Given the description of an element on the screen output the (x, y) to click on. 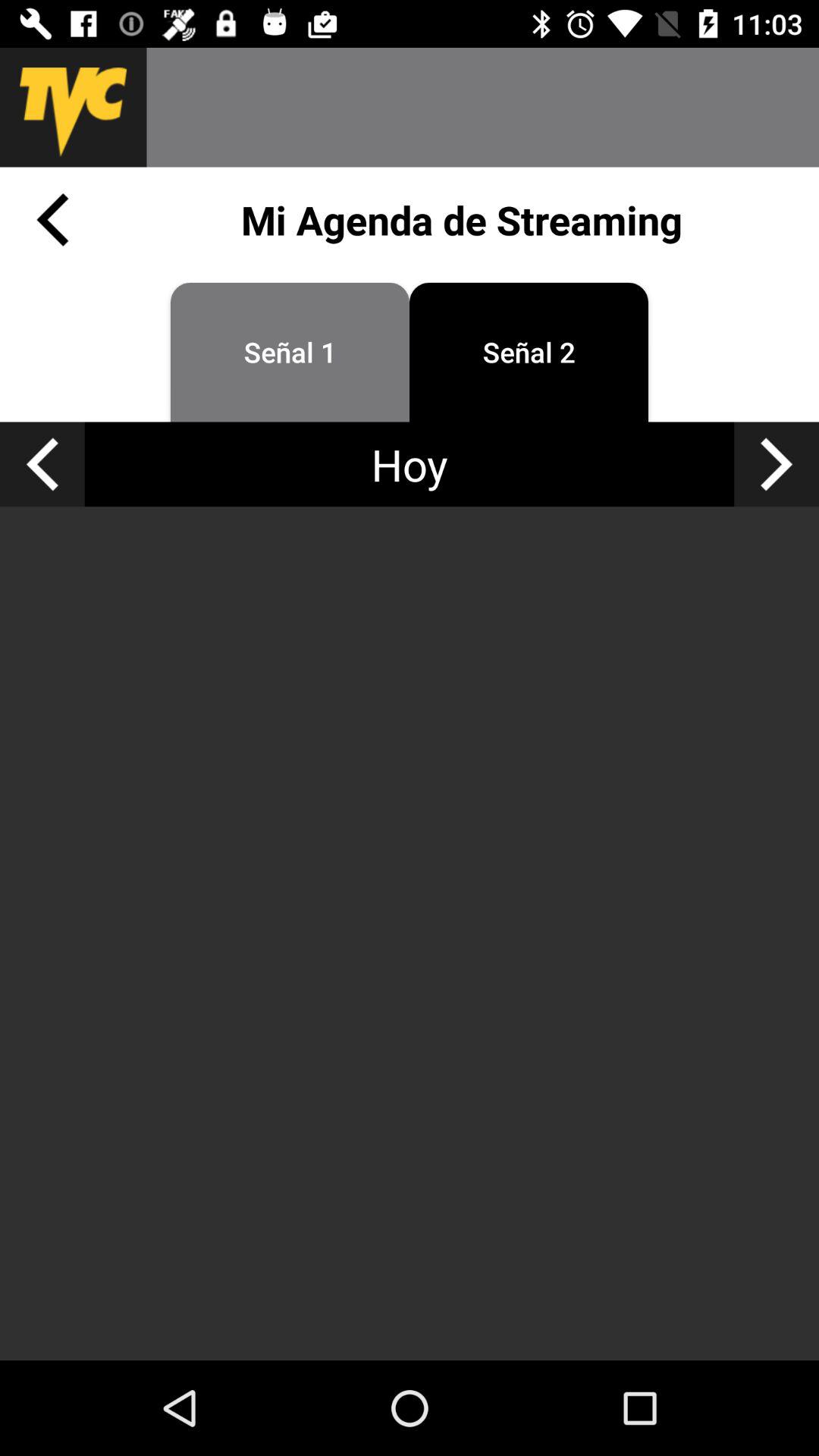
turn off icon next to hoy app (776, 464)
